Given the description of an element on the screen output the (x, y) to click on. 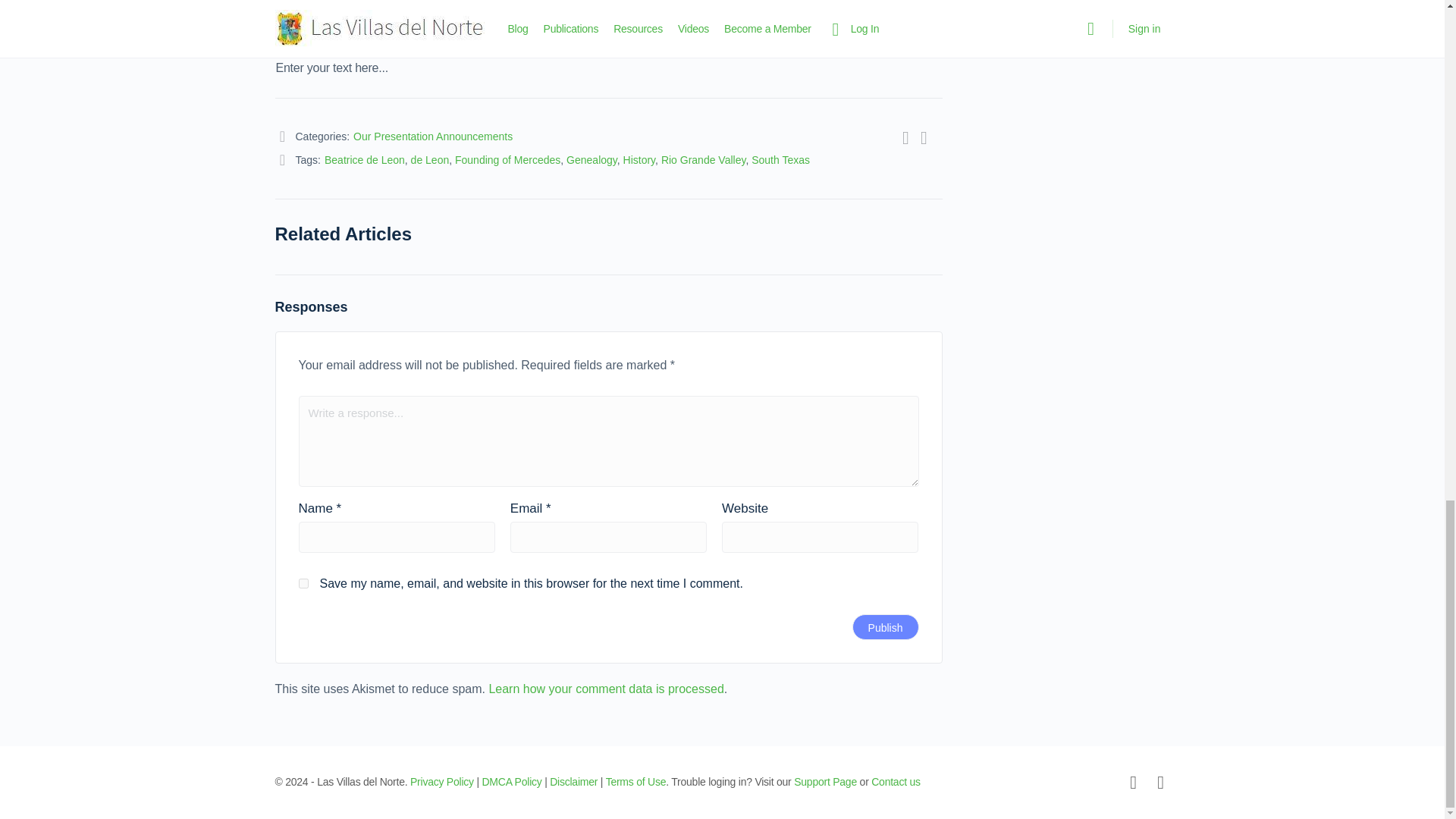
Rio Grande Valley (703, 159)
de Leon (429, 159)
Our Presentation Announcements (432, 136)
Genealogy (591, 159)
Beatrice de Leon (364, 159)
History (639, 159)
South Texas (780, 159)
Founding of Mercedes (507, 159)
Publish (884, 626)
